Given the description of an element on the screen output the (x, y) to click on. 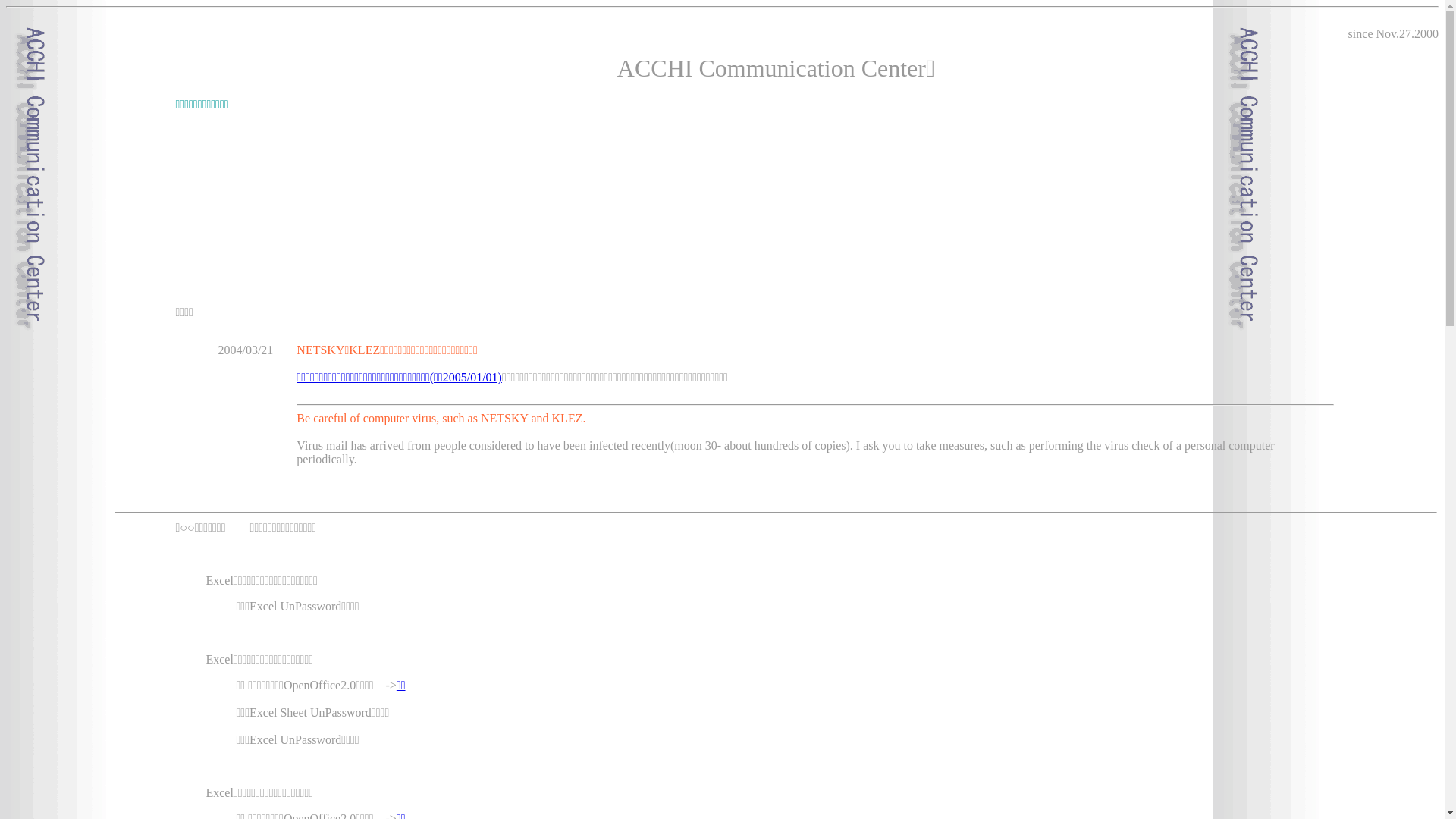
Advertisement Element type: hover (775, 254)
Advertisement Element type: hover (775, 172)
